Given the description of an element on the screen output the (x, y) to click on. 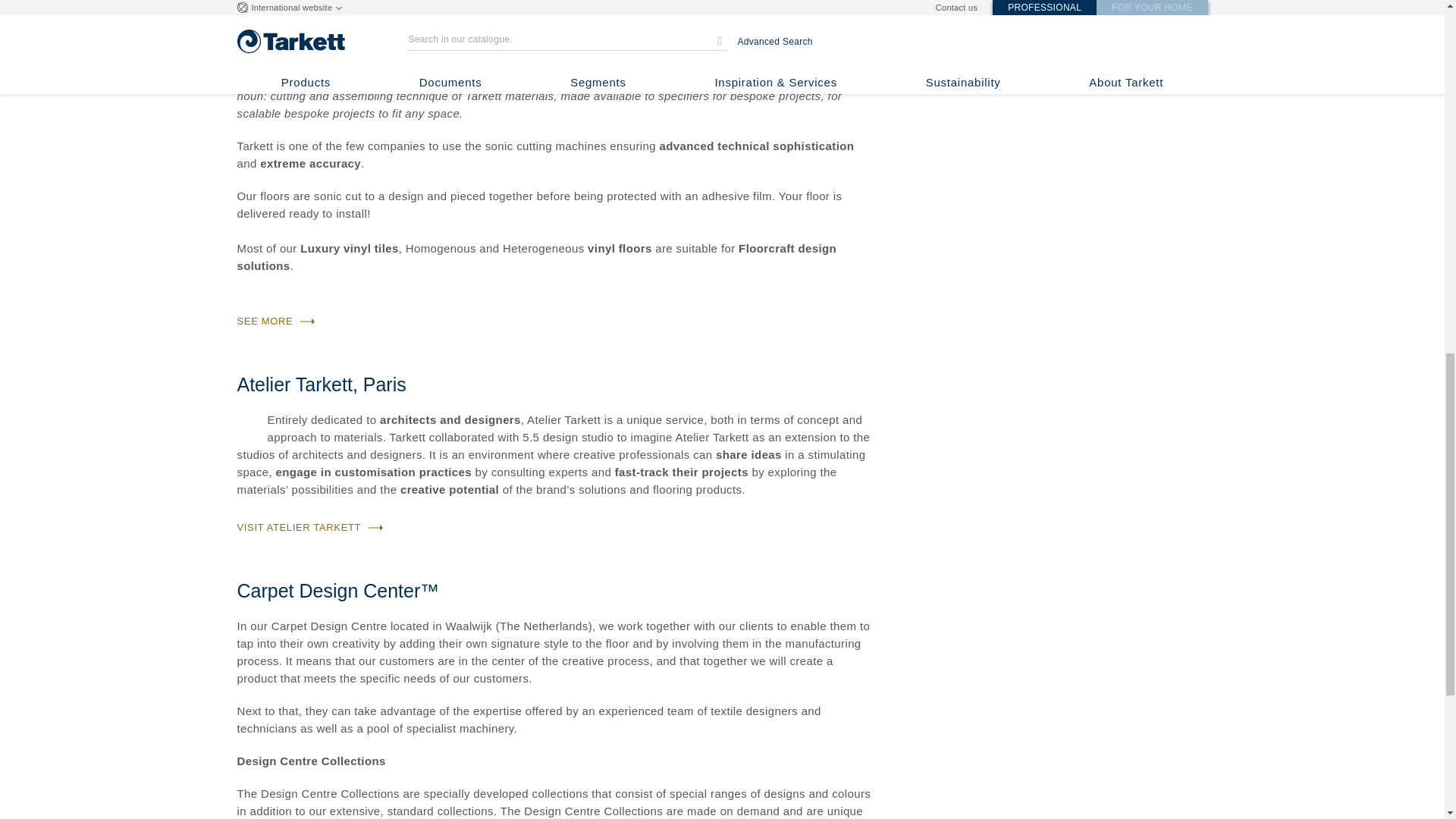
SEE MORE (274, 320)
VISIT ATELIER TARKETT (308, 526)
